Given the description of an element on the screen output the (x, y) to click on. 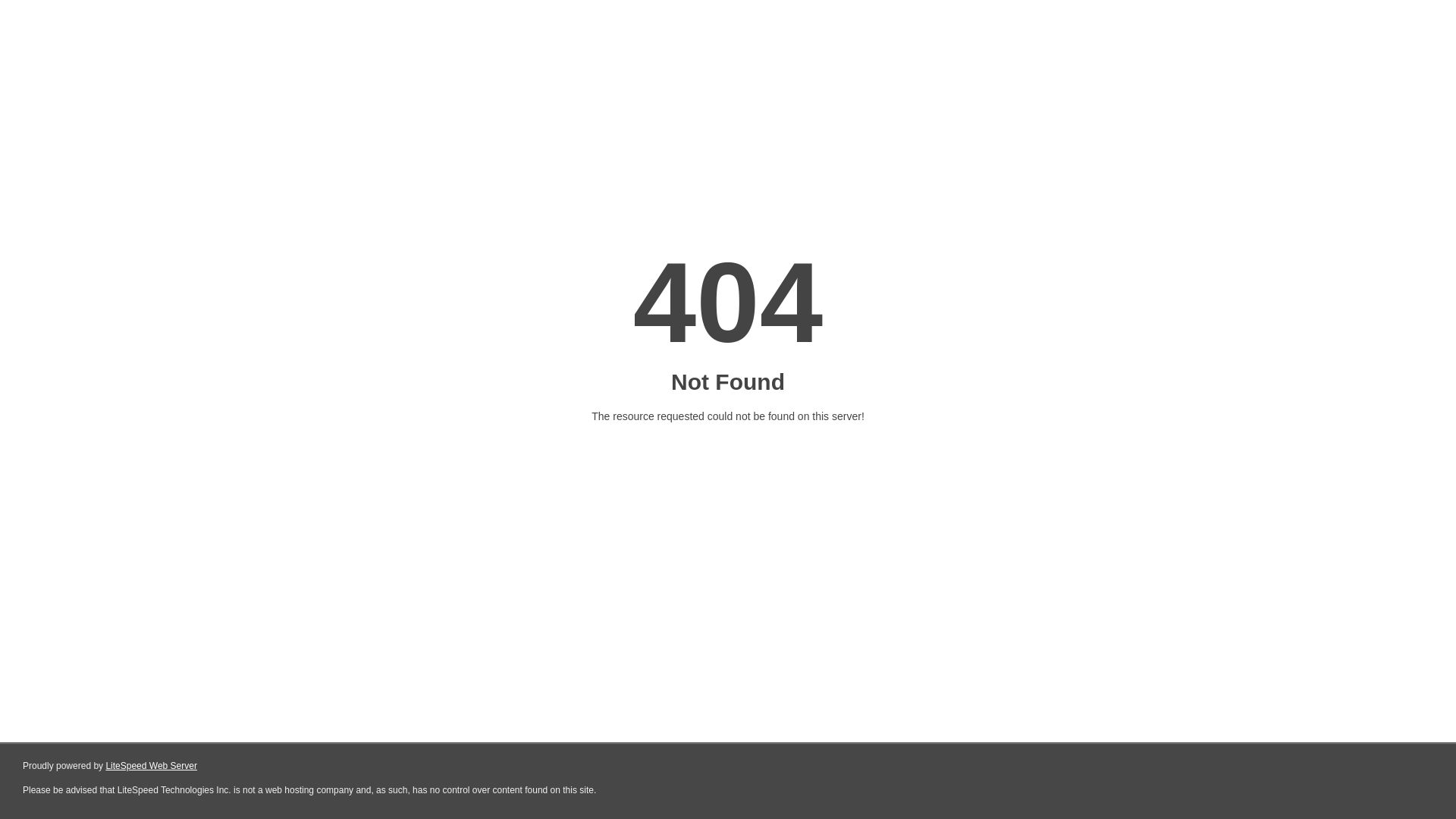
LiteSpeed Web Server Element type: text (151, 765)
